Given the description of an element on the screen output the (x, y) to click on. 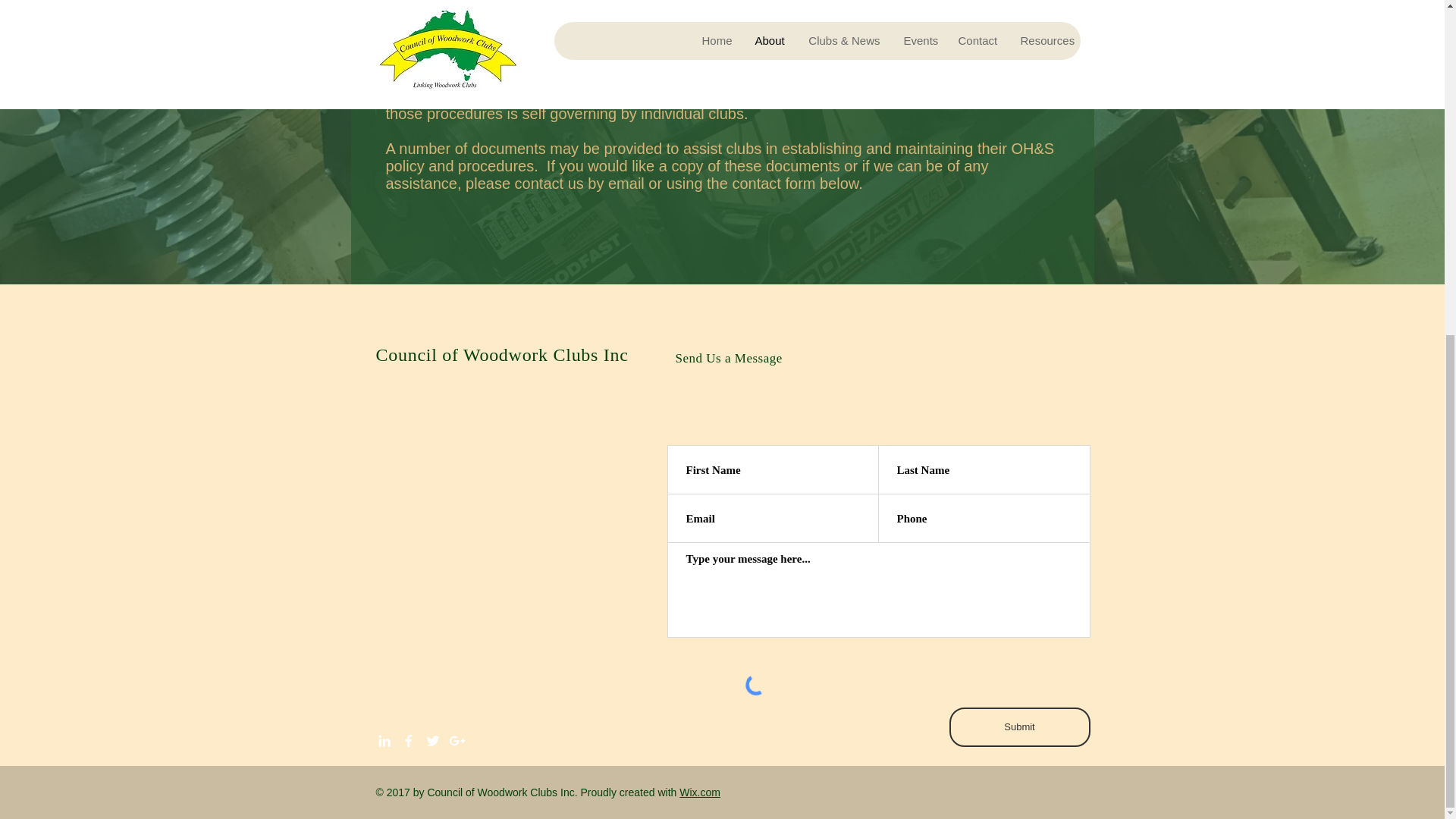
Council of Woodwork Clubs Inc (501, 354)
Wix.com (699, 792)
Submit (1019, 726)
